Given the description of an element on the screen output the (x, y) to click on. 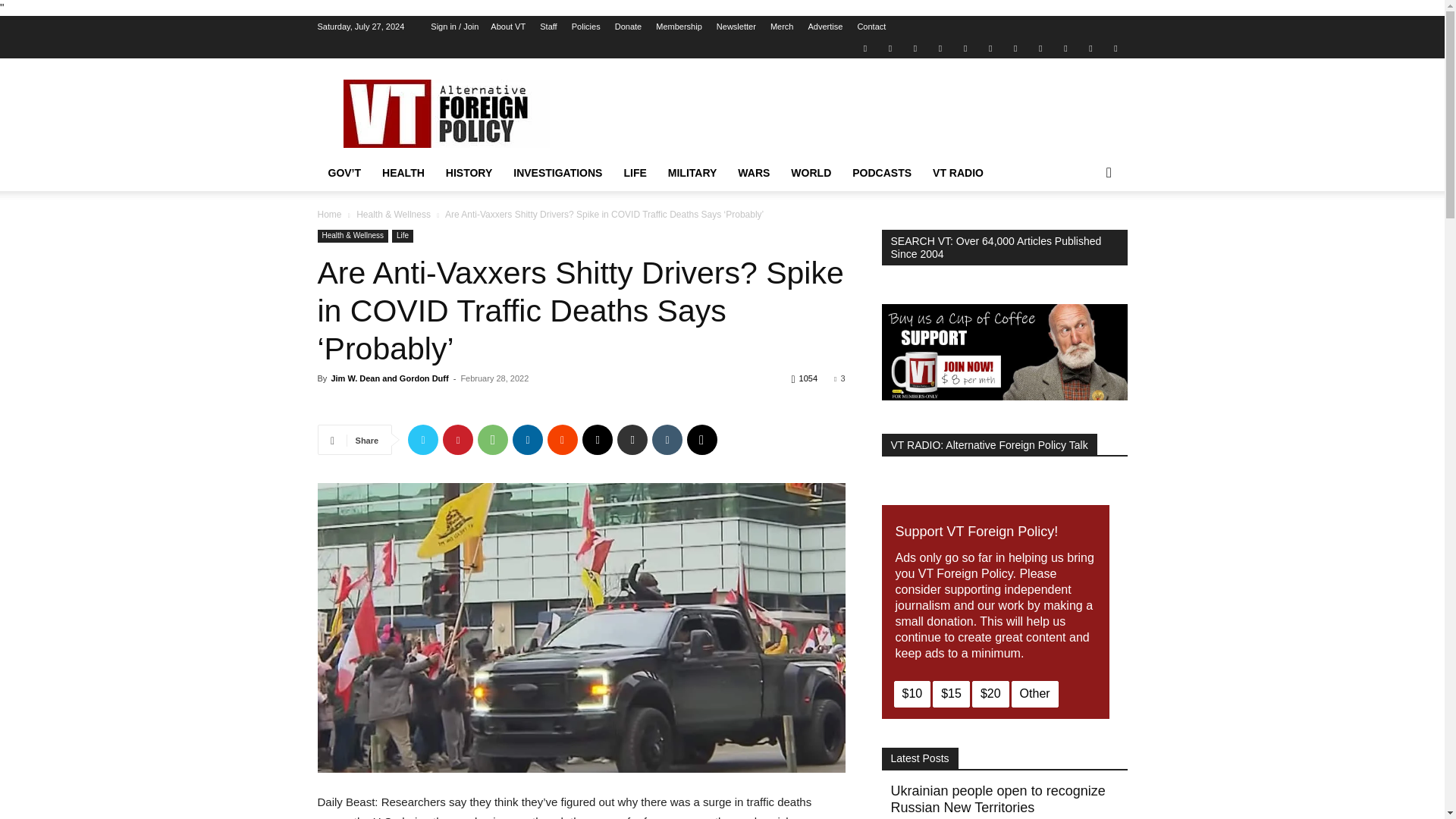
Contact (871, 26)
Advertise (825, 26)
Policies (585, 26)
Staff (548, 26)
Mail (915, 47)
Blogger (864, 47)
Newsletter (735, 26)
Facebook (890, 47)
Membership (678, 26)
About VT (507, 26)
Merch (781, 26)
Rumble (964, 47)
Donate (628, 26)
Reddit (940, 47)
